Given the description of an element on the screen output the (x, y) to click on. 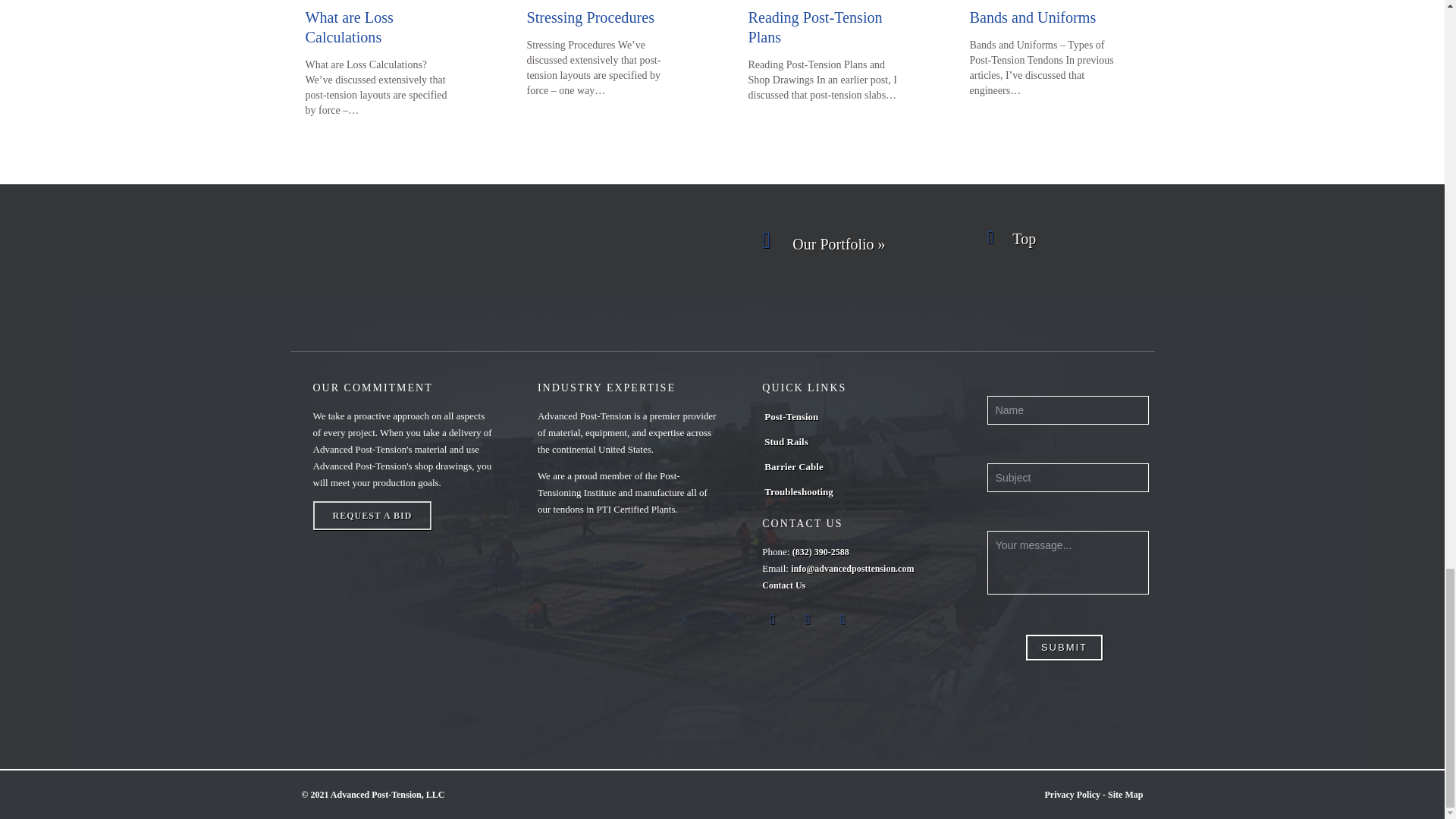
SUBMIT (1064, 647)
What are Loss Calculations (348, 27)
Stressing Procedures (589, 17)
What are Loss Calculations (348, 27)
